Given the description of an element on the screen output the (x, y) to click on. 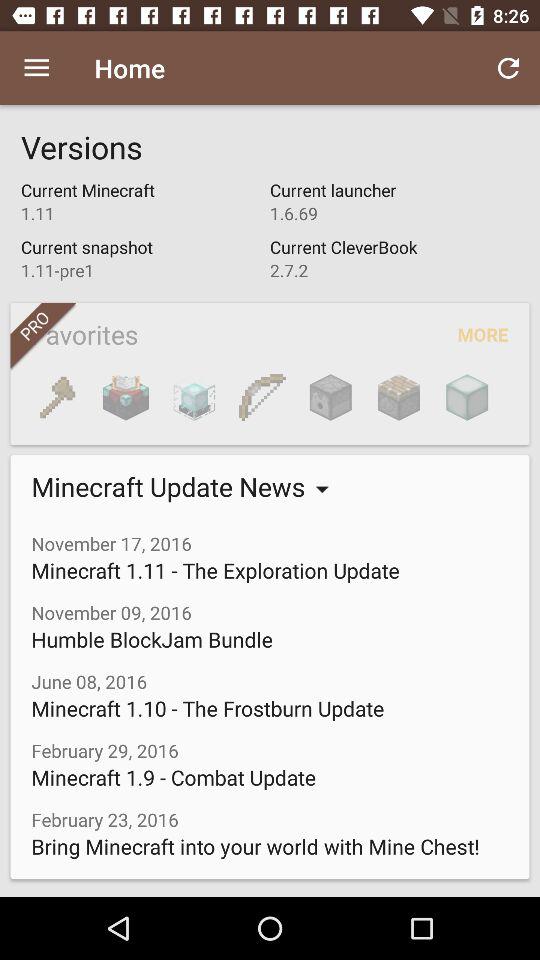
launch item below the favorites item (330, 397)
